Given the description of an element on the screen output the (x, y) to click on. 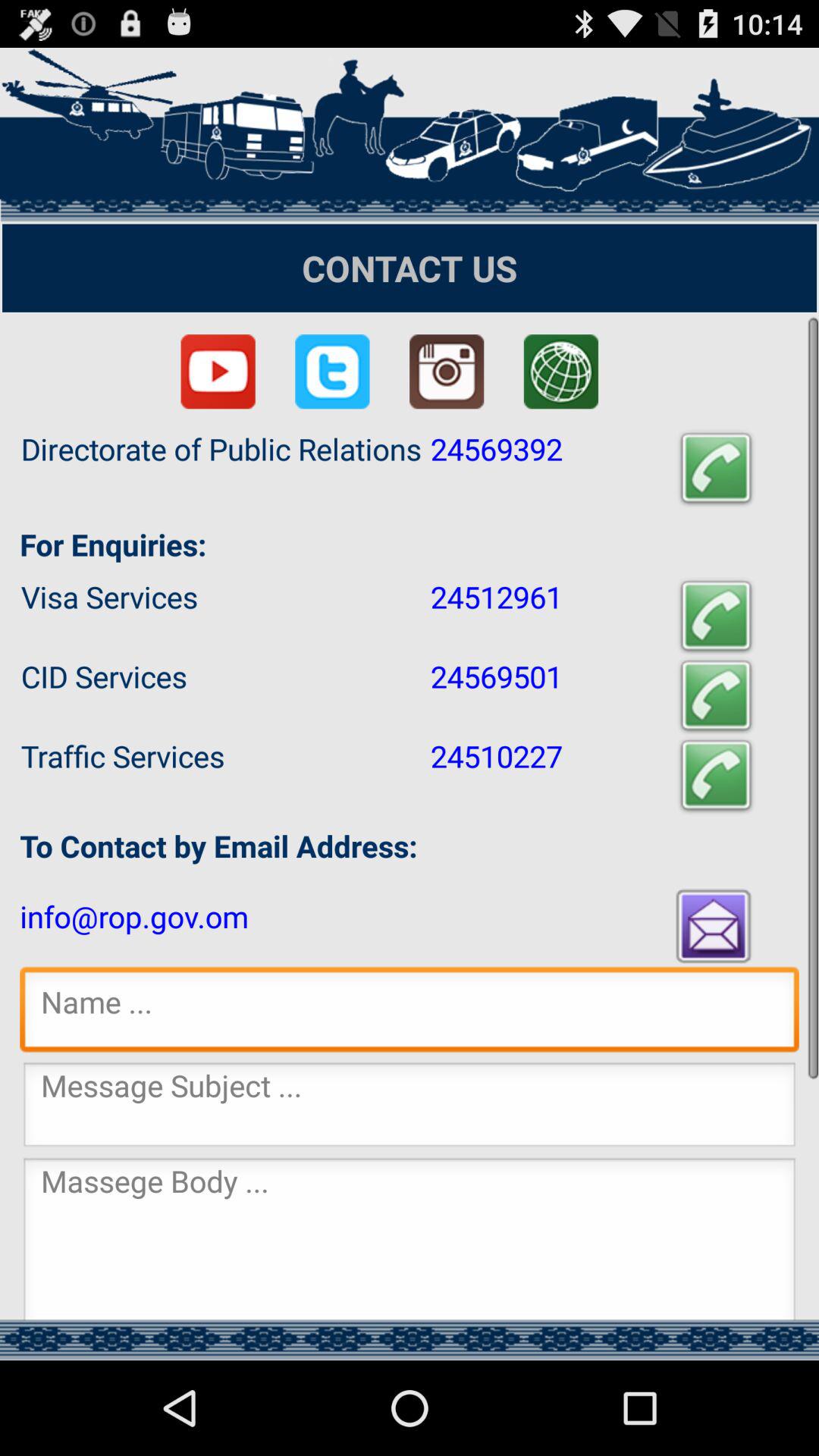
turn off the app next to info rop gov icon (715, 925)
